Given the description of an element on the screen output the (x, y) to click on. 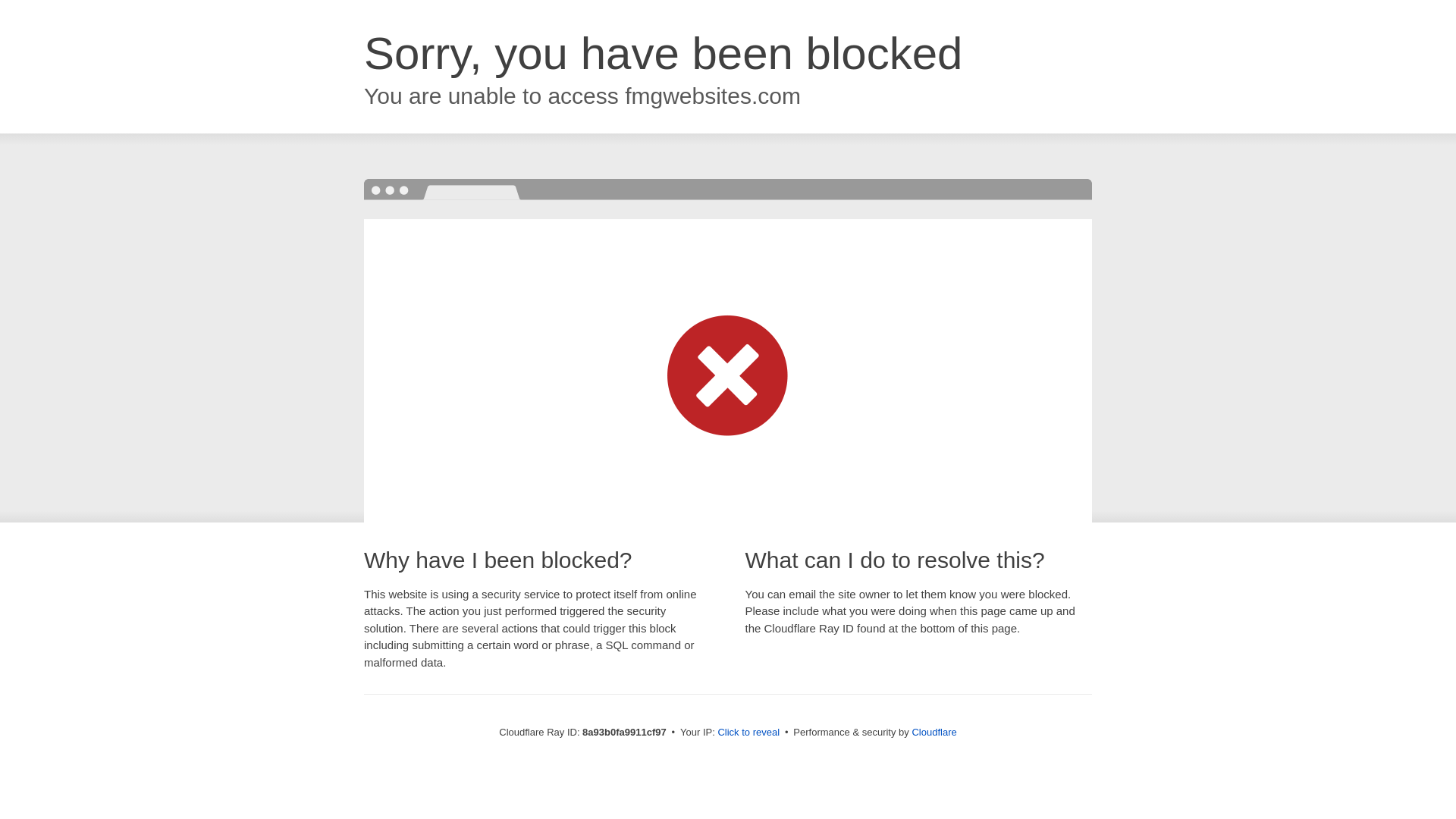
Click to reveal (747, 732)
Cloudflare (933, 731)
